Given the description of an element on the screen output the (x, y) to click on. 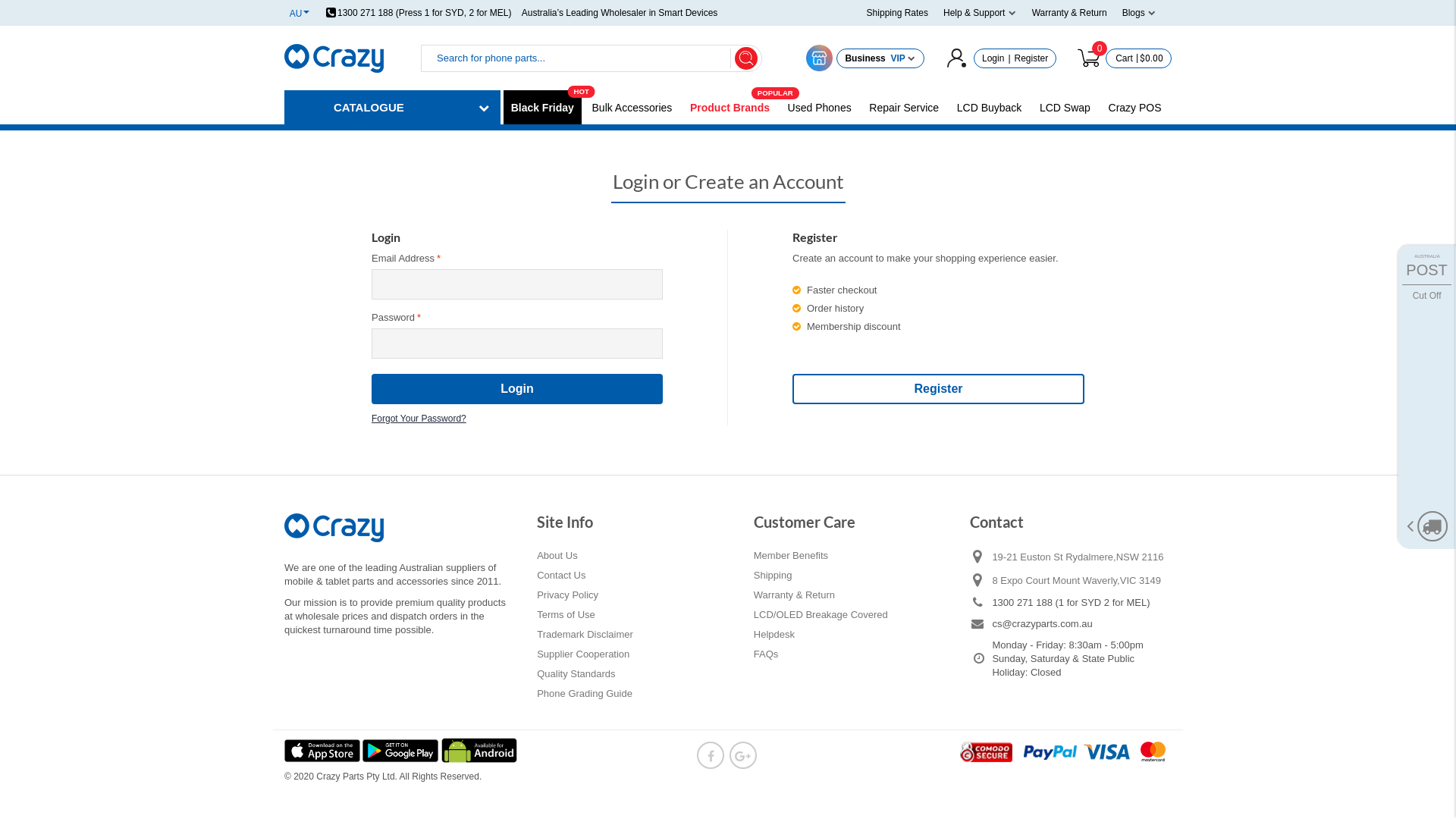
Bulk Accessories Element type: text (632, 107)
Trademark Disclaimer Element type: text (584, 634)
Contact Us Element type: text (560, 575)
Repair Service Element type: text (903, 107)
Terms of Use Element type: text (565, 614)
Download Crazyparts App on Google Play Element type: hover (479, 749)
Download Crazyparts App on Apple Store Element type: hover (323, 749)
Product Brands
POPULAR Element type: text (729, 107)
FAQs Element type: text (765, 654)
The currency of payment Element type: hover (1065, 751)
Used Phones Element type: text (819, 107)
Member Benefits Element type: text (790, 555)
LCD Buyback Element type: text (989, 107)
About Us Element type: text (556, 555)
LCD Swap Element type: text (1065, 107)
CATALOGUE Element type: text (392, 107)
8 Expo Court Mount Waverly,VIC 3149 Element type: text (1081, 579)
Warranty & Return Element type: text (1069, 12)
Forgot Your Password? Element type: text (418, 414)
Privacy Policy Element type: text (567, 595)
Search Element type: hover (745, 57)
Download Crazyparts App on Google Play Element type: hover (401, 749)
Phone Grading Guide Element type: text (584, 693)
Login Element type: text (993, 58)
Crazyparts Element type: hover (333, 57)
Login Element type: text (516, 388)
Supplier Cooperation Element type: text (582, 654)
Warranty & Return Element type: text (793, 595)
Email Address Element type: hover (516, 284)
Register Element type: text (1031, 58)
Shipping Element type: text (772, 575)
LCD/OLED Breakage Covered Element type: text (820, 614)
Facebook Element type: hover (710, 754)
Black Friday
HOT Element type: text (542, 107)
Register Element type: text (938, 388)
19-21 Euston St Rydalmere,NSW 2116 Element type: text (1081, 557)
Crazy POS Element type: text (1135, 107)
Cart
0
|
$0.00 Element type: text (1121, 57)
Shipping Rates Element type: text (897, 12)
Quality Standards Element type: text (575, 673)
AU Element type: text (299, 12)
Google Element type: hover (742, 754)
Password Element type: hover (516, 343)
Helpdesk Element type: text (773, 634)
